Given the description of an element on the screen output the (x, y) to click on. 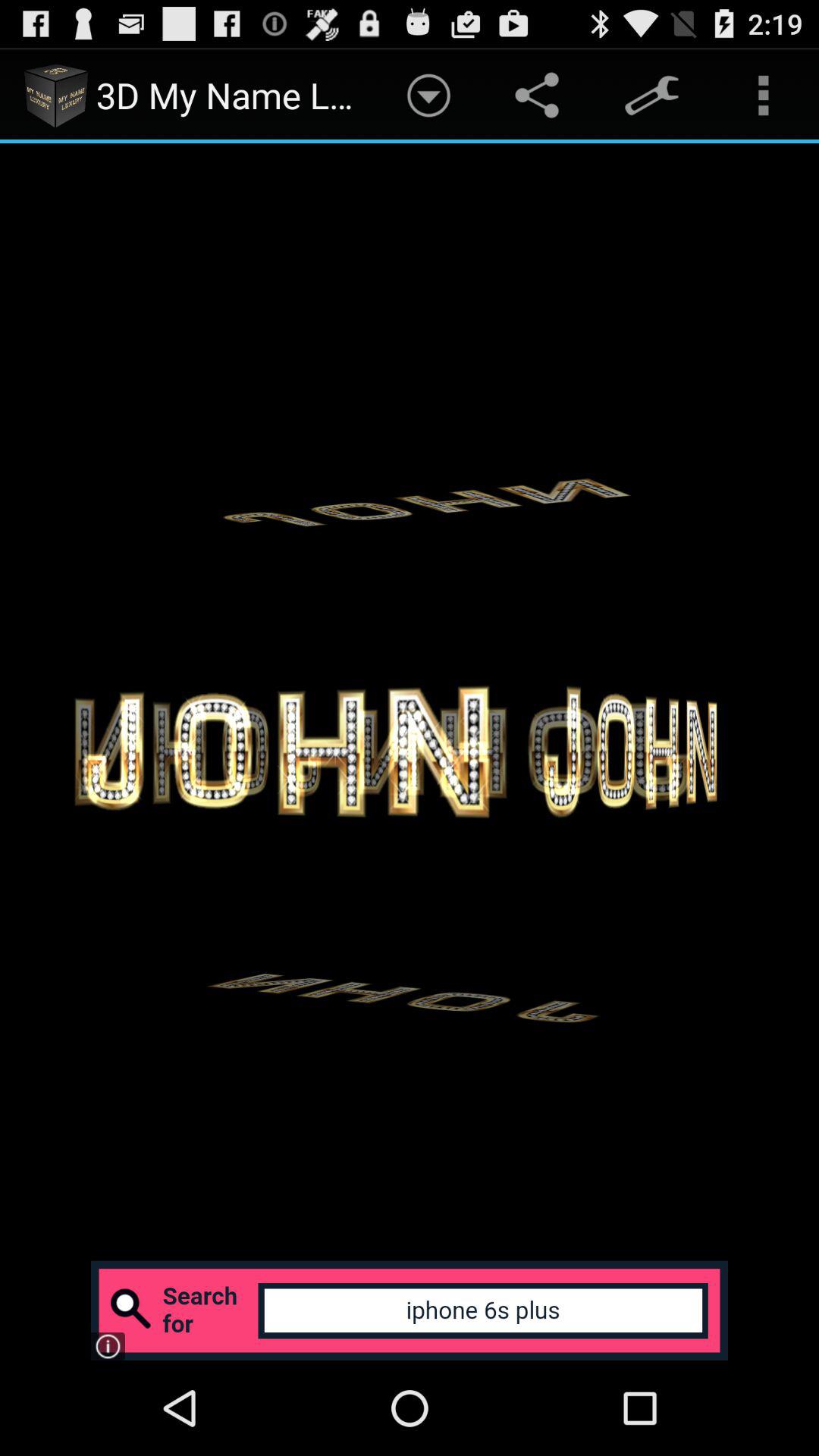
turn on app next to 3d my name app (428, 95)
